Given the description of an element on the screen output the (x, y) to click on. 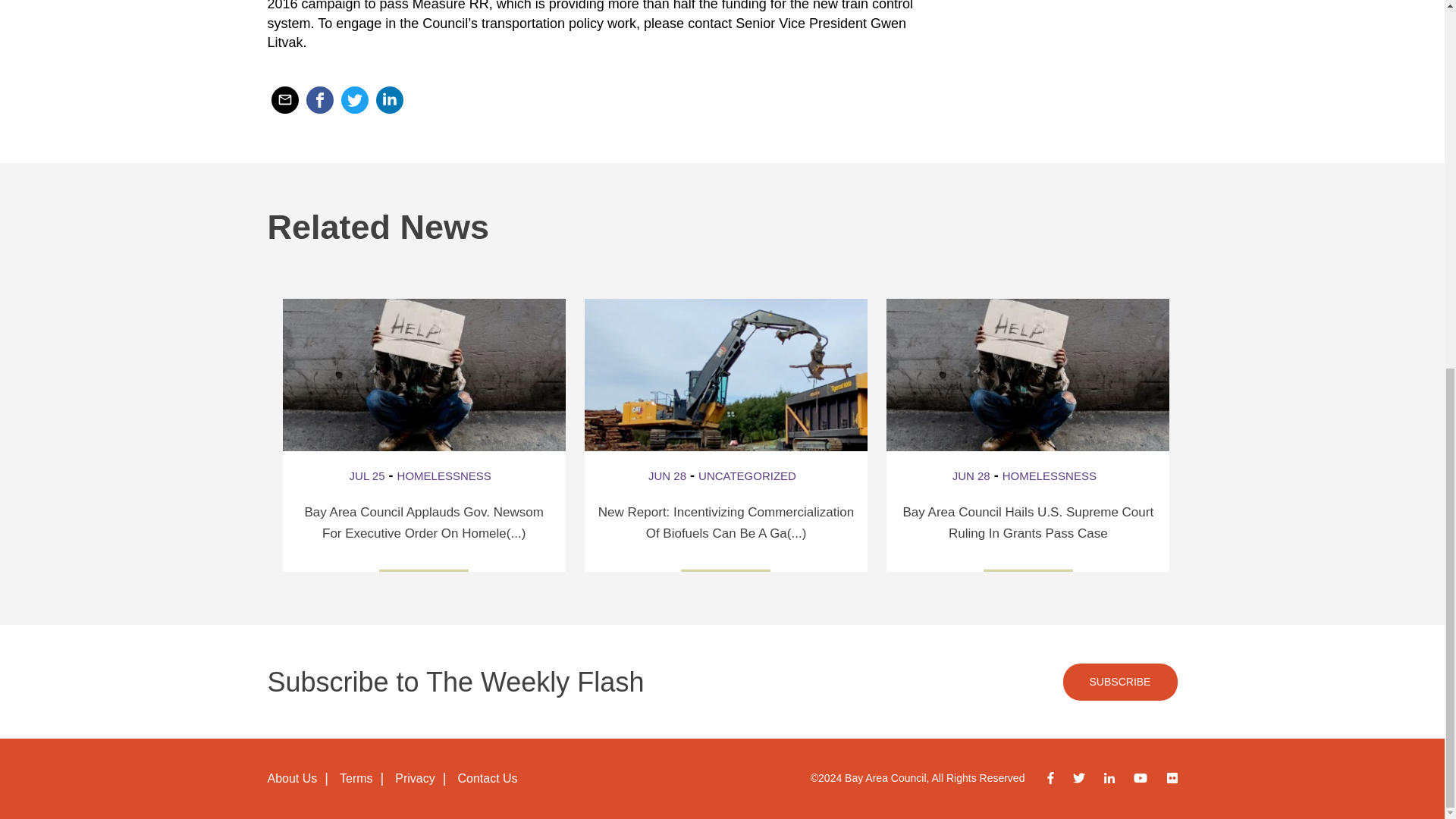
Email to a friend (284, 99)
Share on Twitter (354, 99)
Share on LinkedIn (389, 99)
Share on Facebook (319, 99)
